Given the description of an element on the screen output the (x, y) to click on. 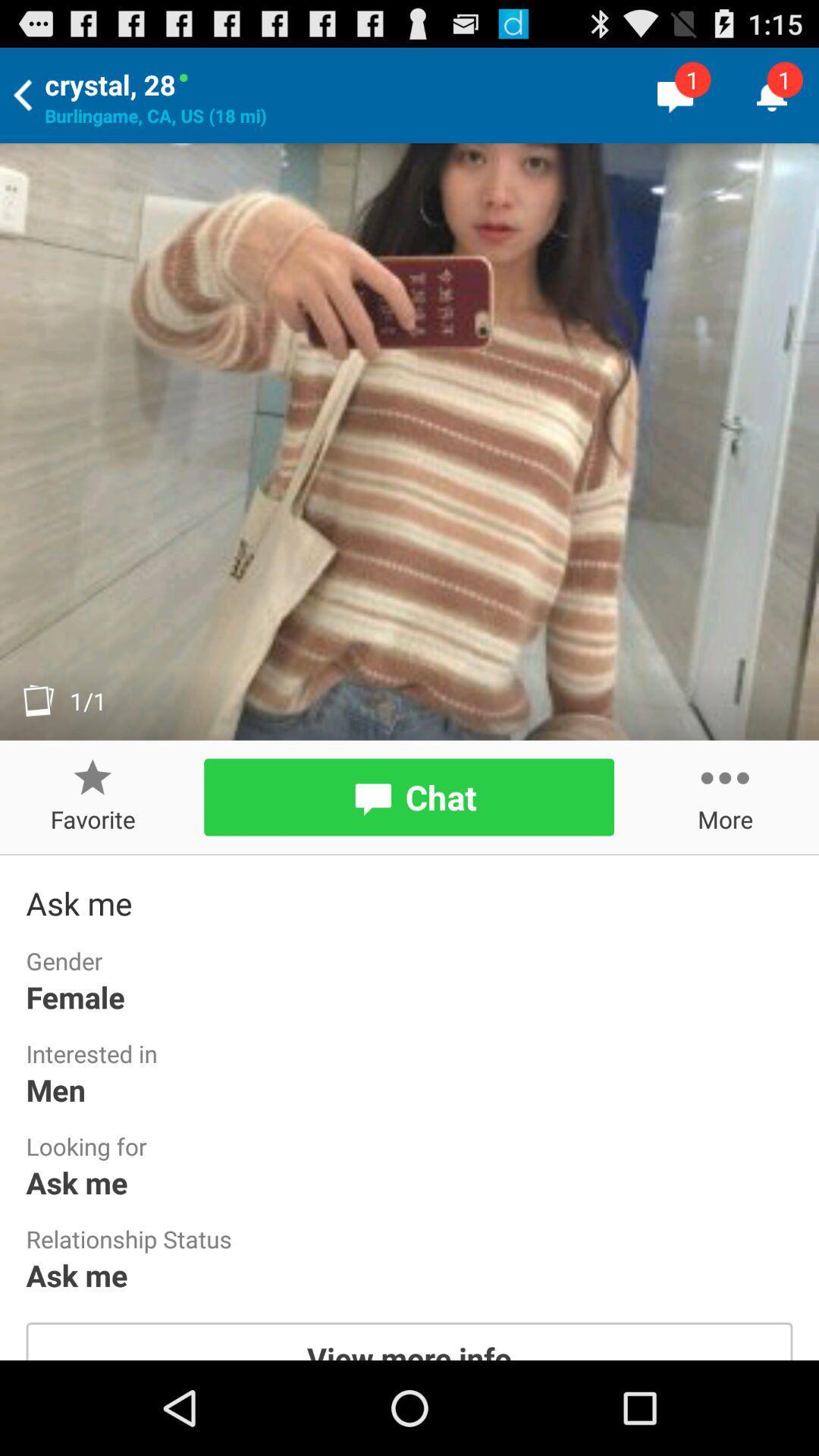
flip to the view more info button (409, 1341)
